Given the description of an element on the screen output the (x, y) to click on. 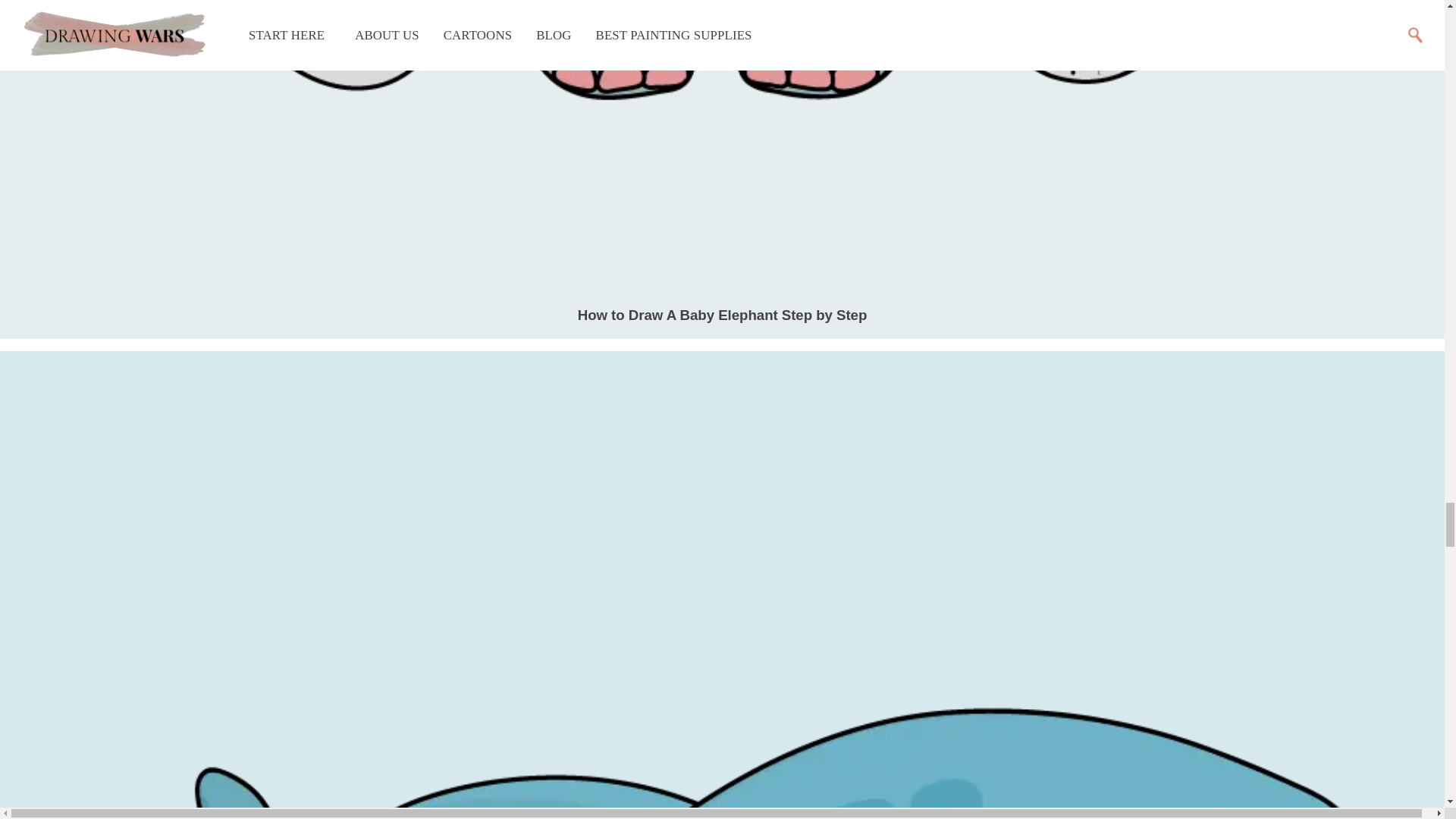
How to Draw A Baby Elephant Step by Step (722, 314)
